Given the description of an element on the screen output the (x, y) to click on. 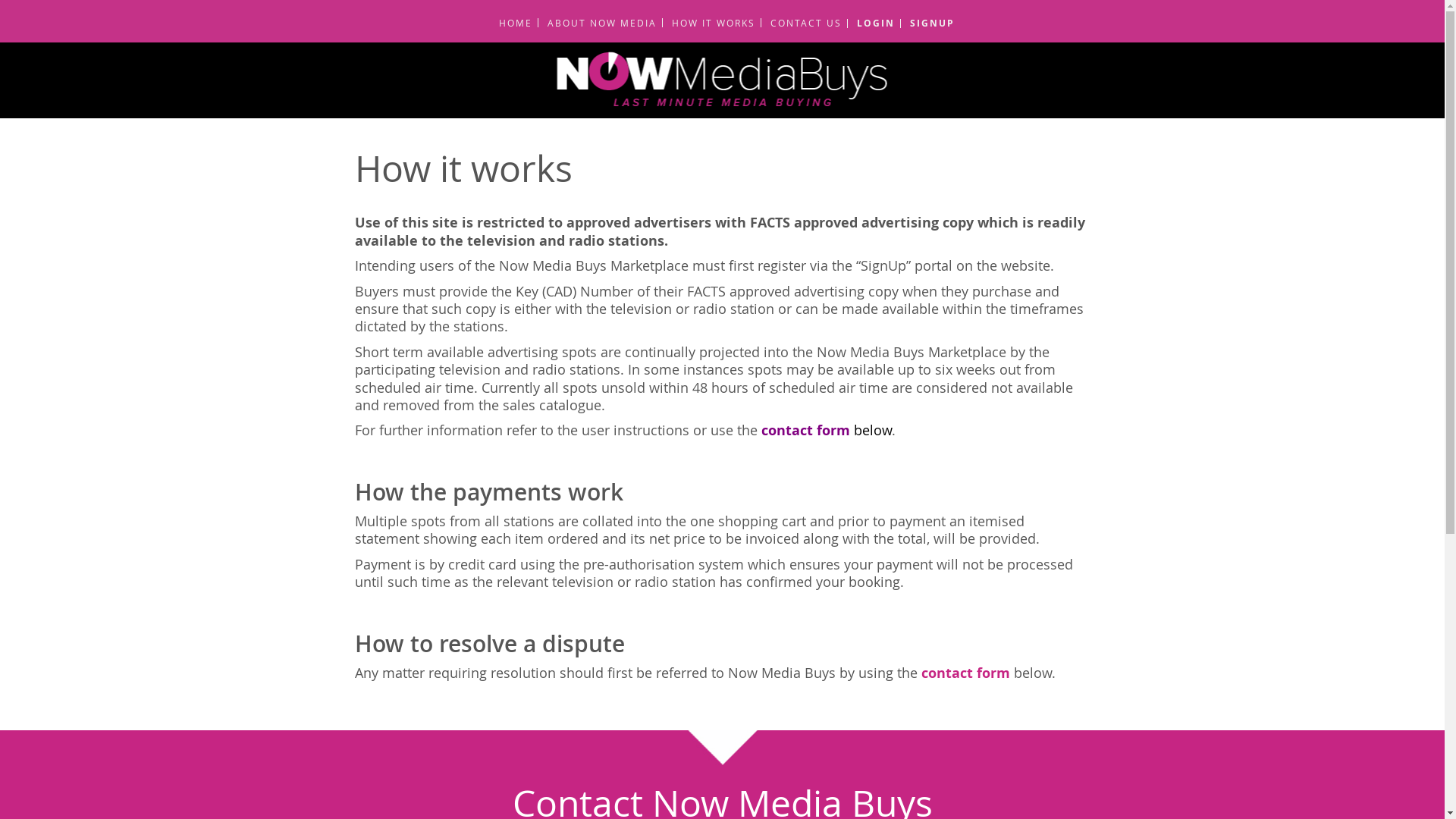
HOW IT WORKS Element type: text (708, 22)
contact form Element type: text (964, 672)
CONTACT US Element type: text (800, 22)
SIGNUP Element type: text (927, 23)
HOME Element type: text (510, 22)
LOGIN Element type: text (870, 23)
ABOUT NOW MEDIA Element type: text (596, 22)
